Given the description of an element on the screen output the (x, y) to click on. 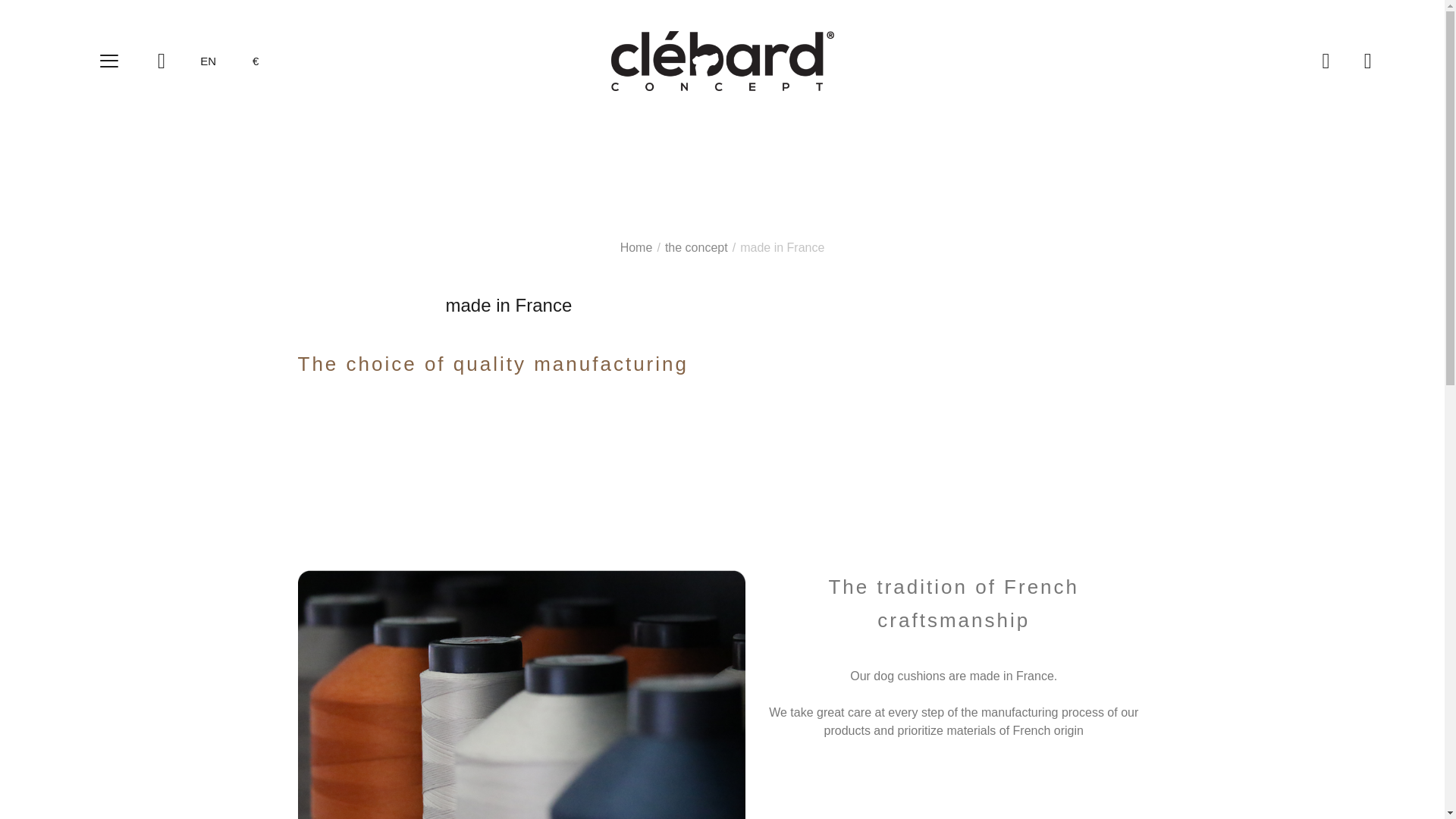
Home (638, 246)
the concept (697, 246)
